Given the description of an element on the screen output the (x, y) to click on. 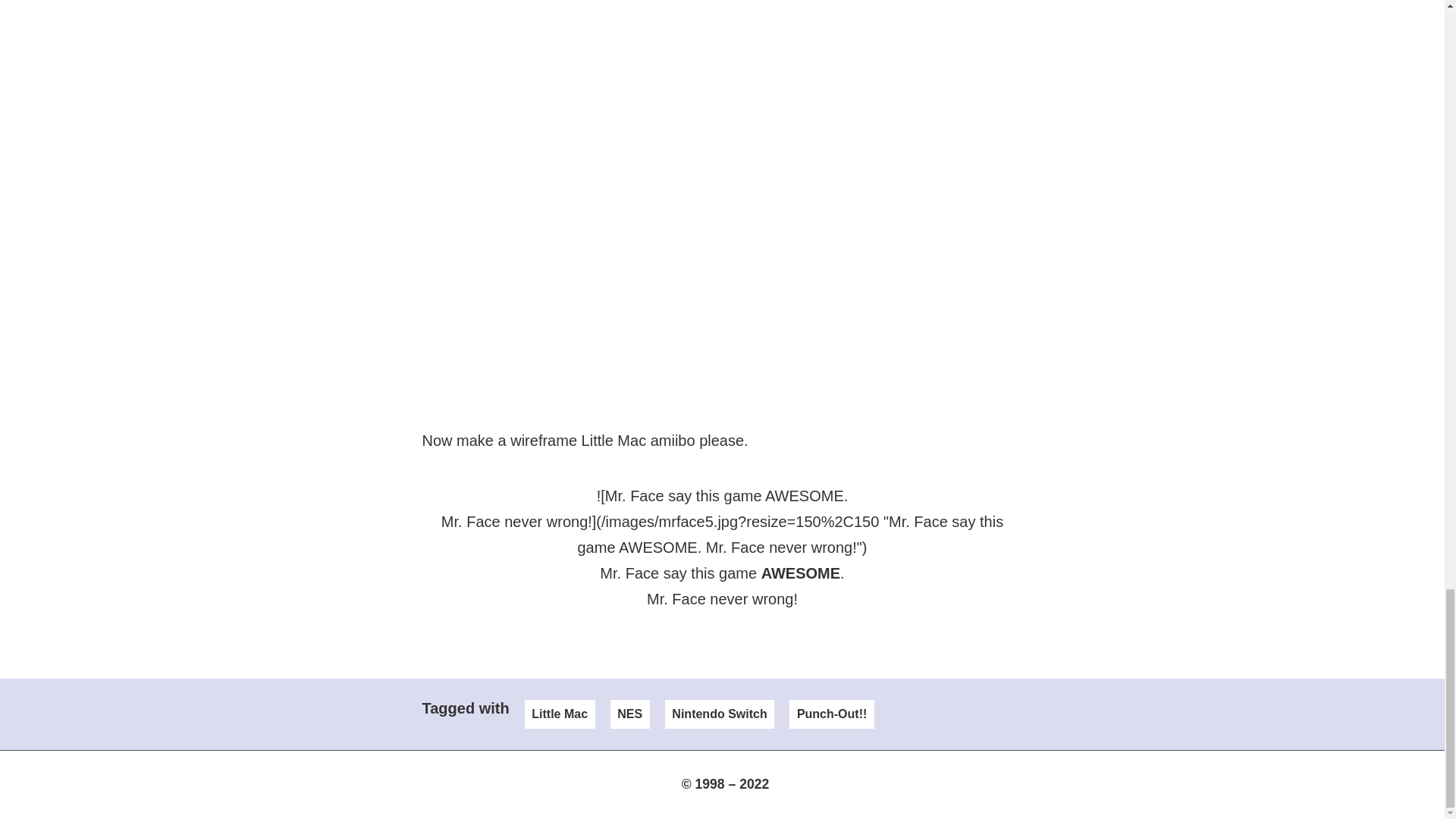
Nintendo Switch (719, 714)
Little Mac (559, 714)
NES (629, 714)
Punch-Out!! (832, 714)
